Given the description of an element on the screen output the (x, y) to click on. 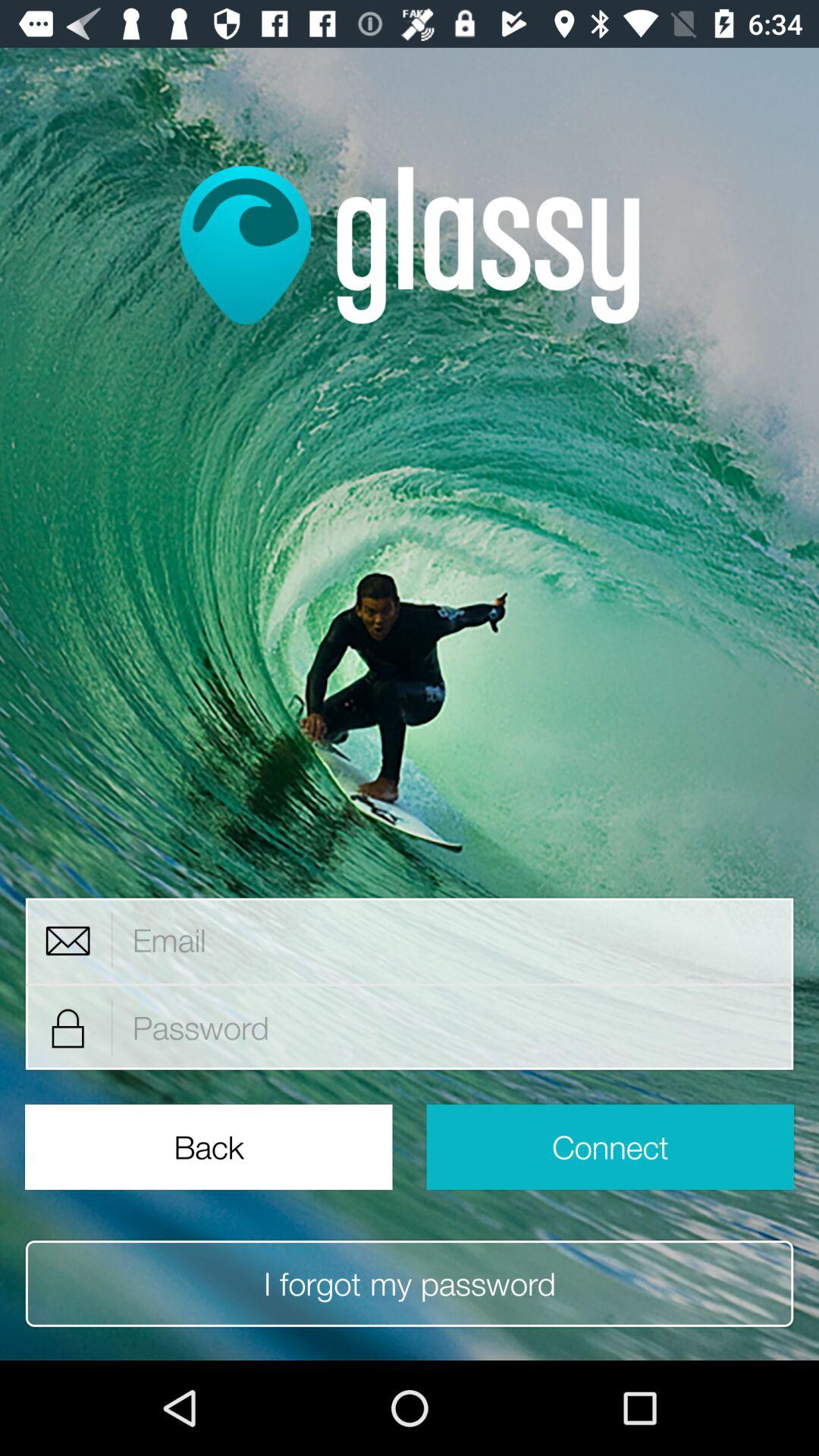
turn off i forgot my (409, 1283)
